Given the description of an element on the screen output the (x, y) to click on. 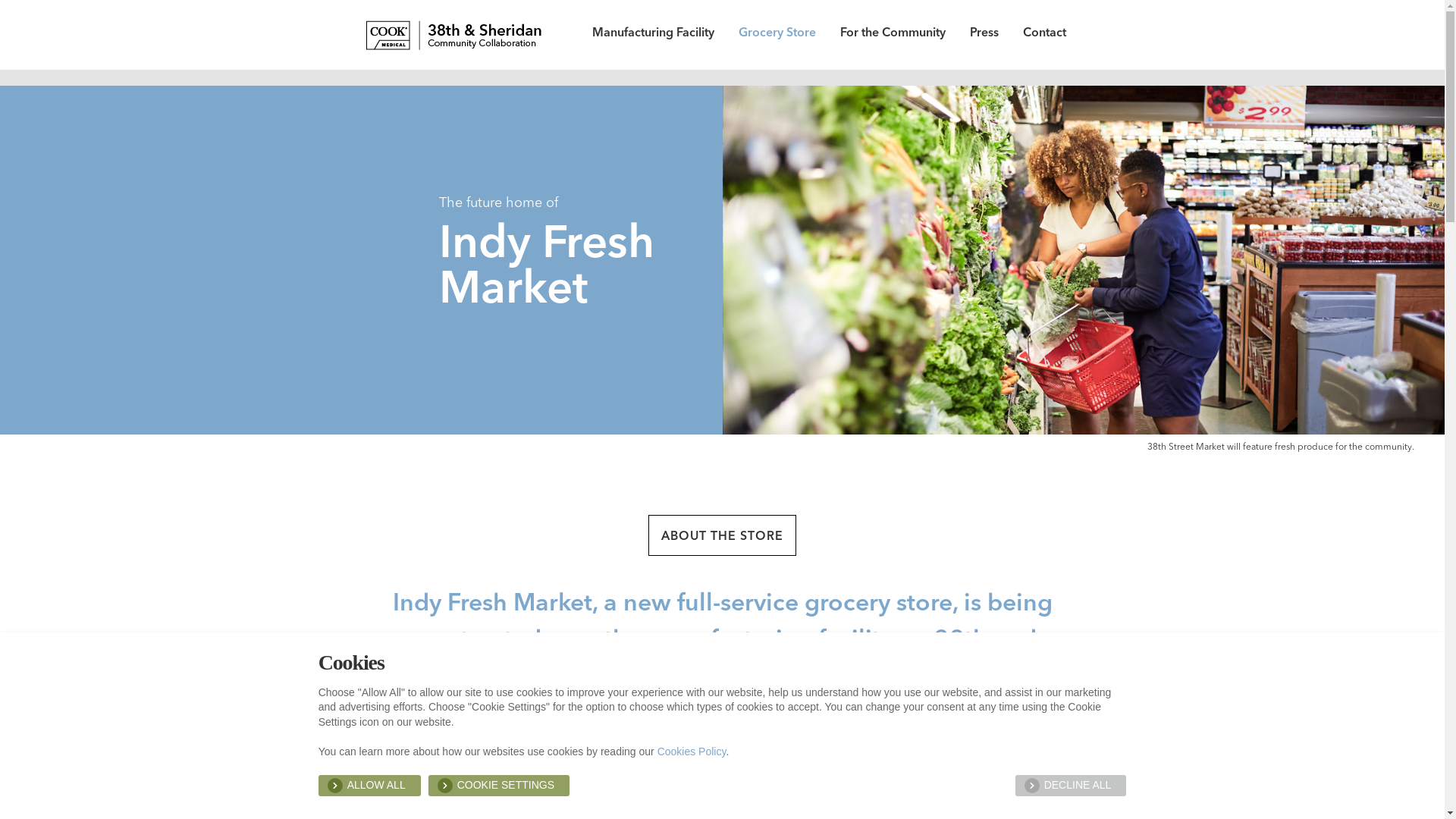
COOKIE SETTINGS Element type: text (498, 785)
For the Community Element type: text (892, 34)
Grocery Store Element type: text (777, 34)
Manufacturing Facility Element type: text (653, 34)
Cookies Policy Element type: text (691, 751)
Contact Element type: text (1044, 34)
Press Element type: text (983, 34)
DECLINE ALL Element type: text (1070, 785)
ALLOW ALL Element type: text (369, 785)
